Given the description of an element on the screen output the (x, y) to click on. 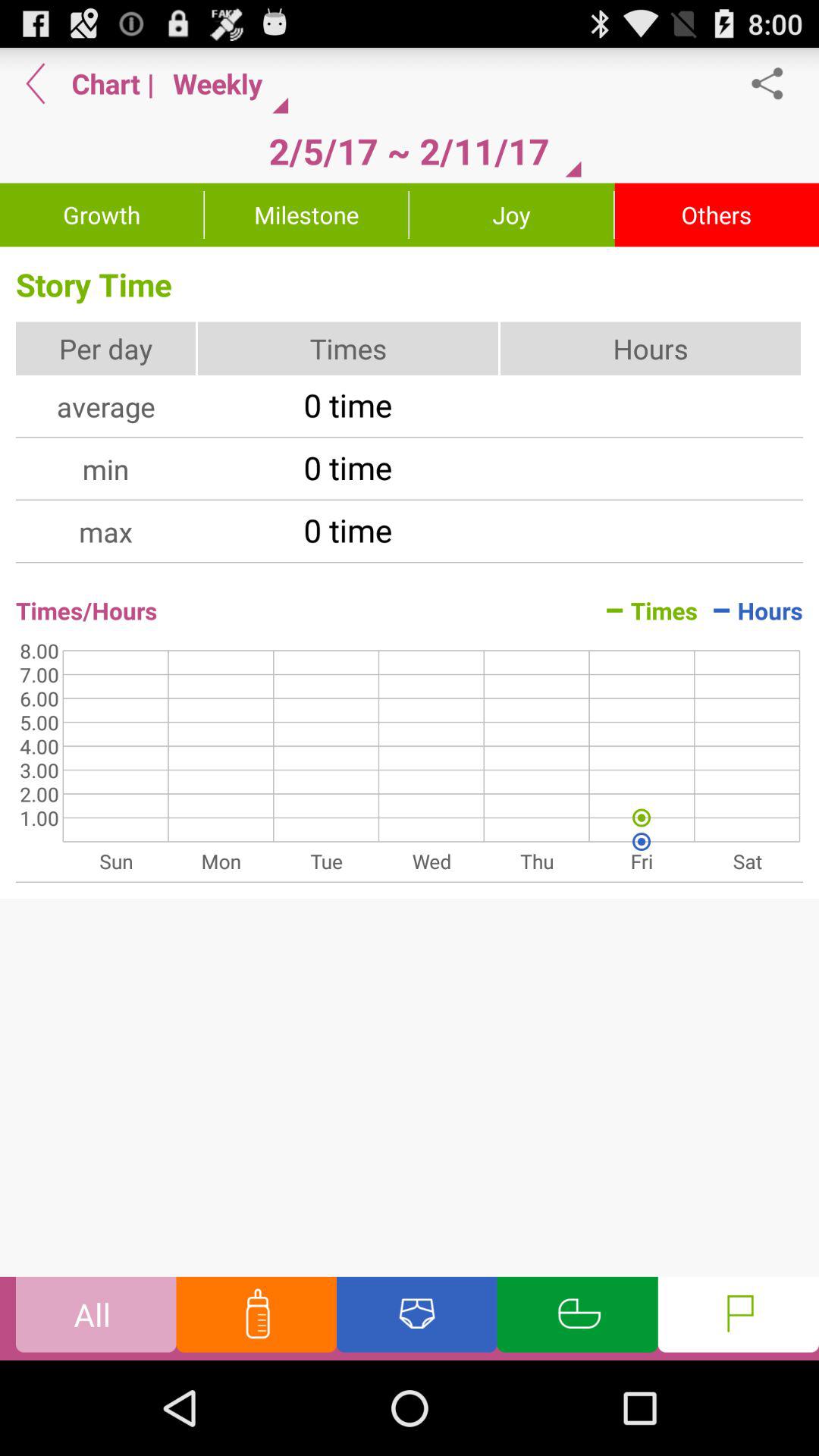
feeding (256, 1318)
